Given the description of an element on the screen output the (x, y) to click on. 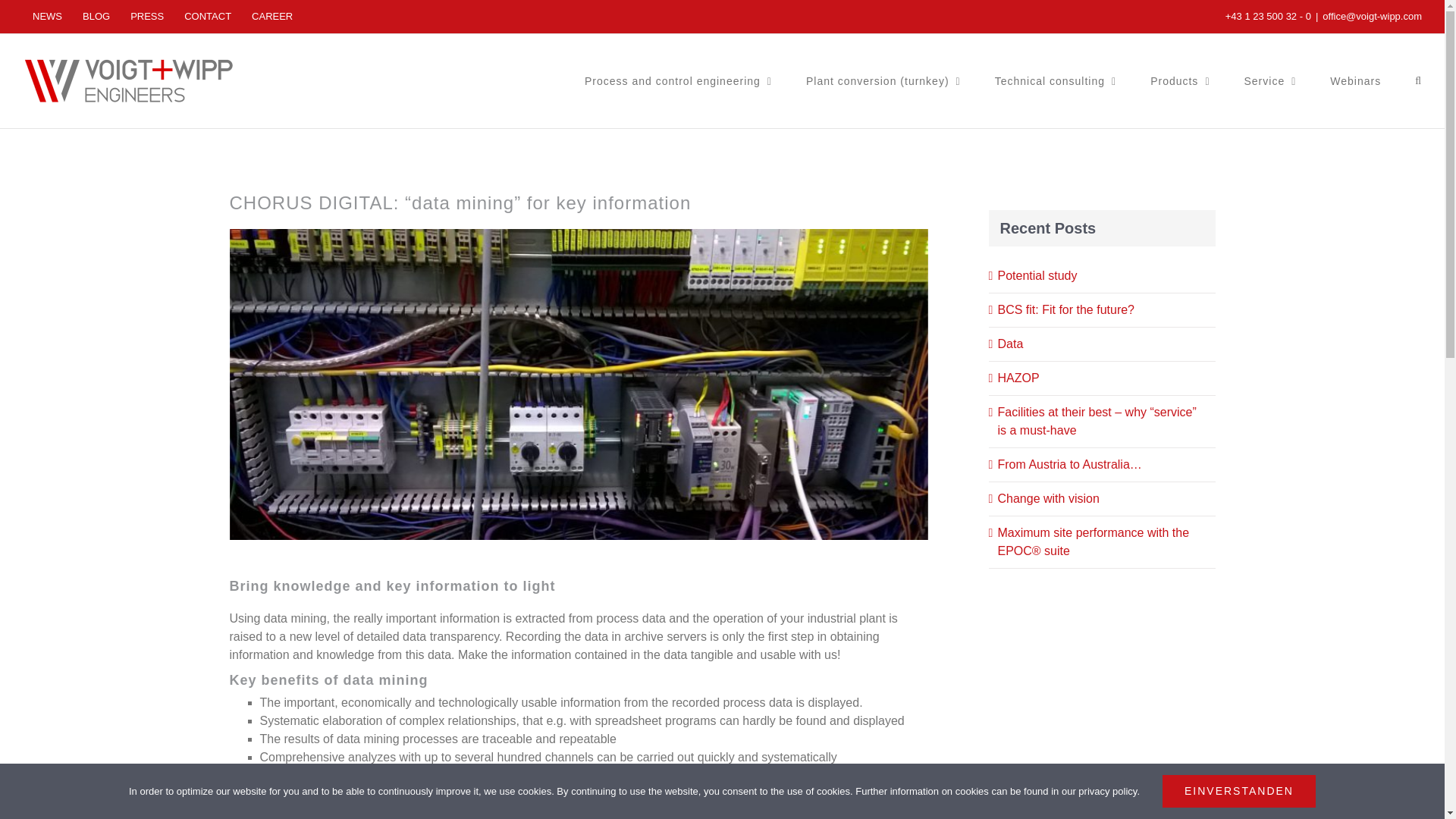
PRESS (146, 16)
Process and control engineering (678, 80)
CONTACT (207, 16)
Technical consulting (1055, 80)
CAREER (271, 16)
NEWS (47, 16)
BLOG (95, 16)
